Given the description of an element on the screen output the (x, y) to click on. 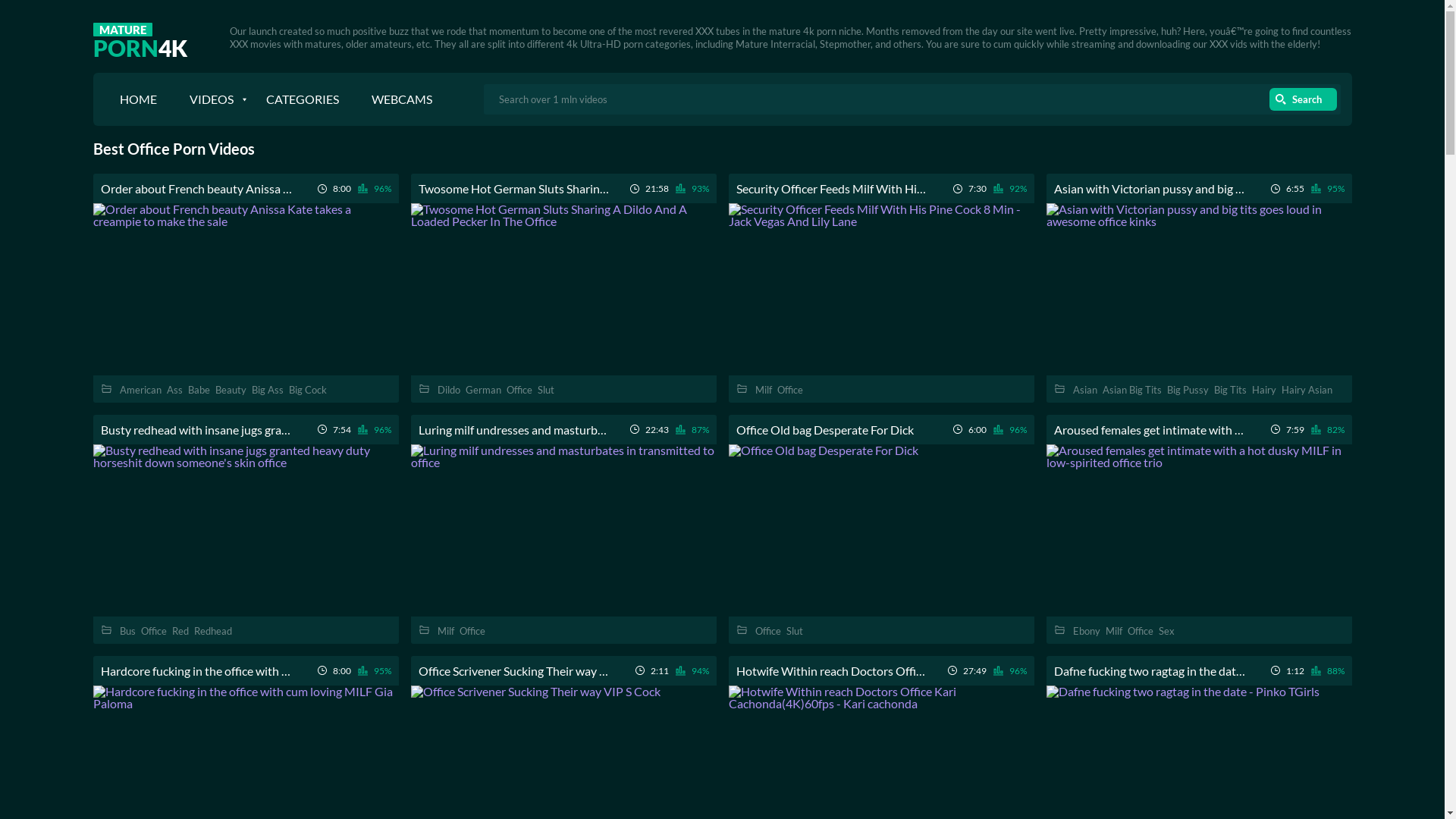
Bus Element type: text (127, 630)
Office Element type: text (768, 630)
American Element type: text (140, 389)
Milf Element type: text (763, 389)
Office Scrivener Sucking Their way VIP S Cock Element type: text (514, 670)
Dafne fucking two ragtag in the date - Pinko TGirls Element type: text (1149, 670)
MATURE
PORN4K Element type: text (139, 36)
Office Element type: text (789, 389)
HOME Element type: text (138, 99)
Asian Element type: text (1084, 389)
WEBCAMS Element type: text (401, 99)
Ass Element type: text (174, 389)
Big Pussy Element type: text (1187, 389)
Redhead Element type: text (213, 630)
Office Element type: text (1139, 630)
Milf Element type: text (1113, 630)
Office Element type: text (472, 630)
Beauty Element type: text (230, 389)
Hairy Element type: text (1263, 389)
Dildo Element type: text (447, 389)
Office Element type: text (519, 389)
Big Cock Element type: text (307, 389)
German Element type: text (483, 389)
Search Element type: text (1302, 98)
Hairy Asian Element type: text (1306, 389)
Red Element type: text (179, 630)
Office Old bag Desperate For Dick Element type: text (824, 429)
Slut Element type: text (793, 630)
CATEGORIES Element type: text (301, 99)
Ebony Element type: text (1085, 630)
Slut Element type: text (544, 389)
Search X Videos Element type: hover (911, 99)
Office Element type: text (153, 630)
Big Ass Element type: text (267, 389)
Babe Element type: text (199, 389)
Milf Element type: text (444, 630)
Sex Element type: text (1166, 630)
Asian Big Tits Element type: text (1131, 389)
Big Tits Element type: text (1229, 389)
